Given the description of an element on the screen output the (x, y) to click on. 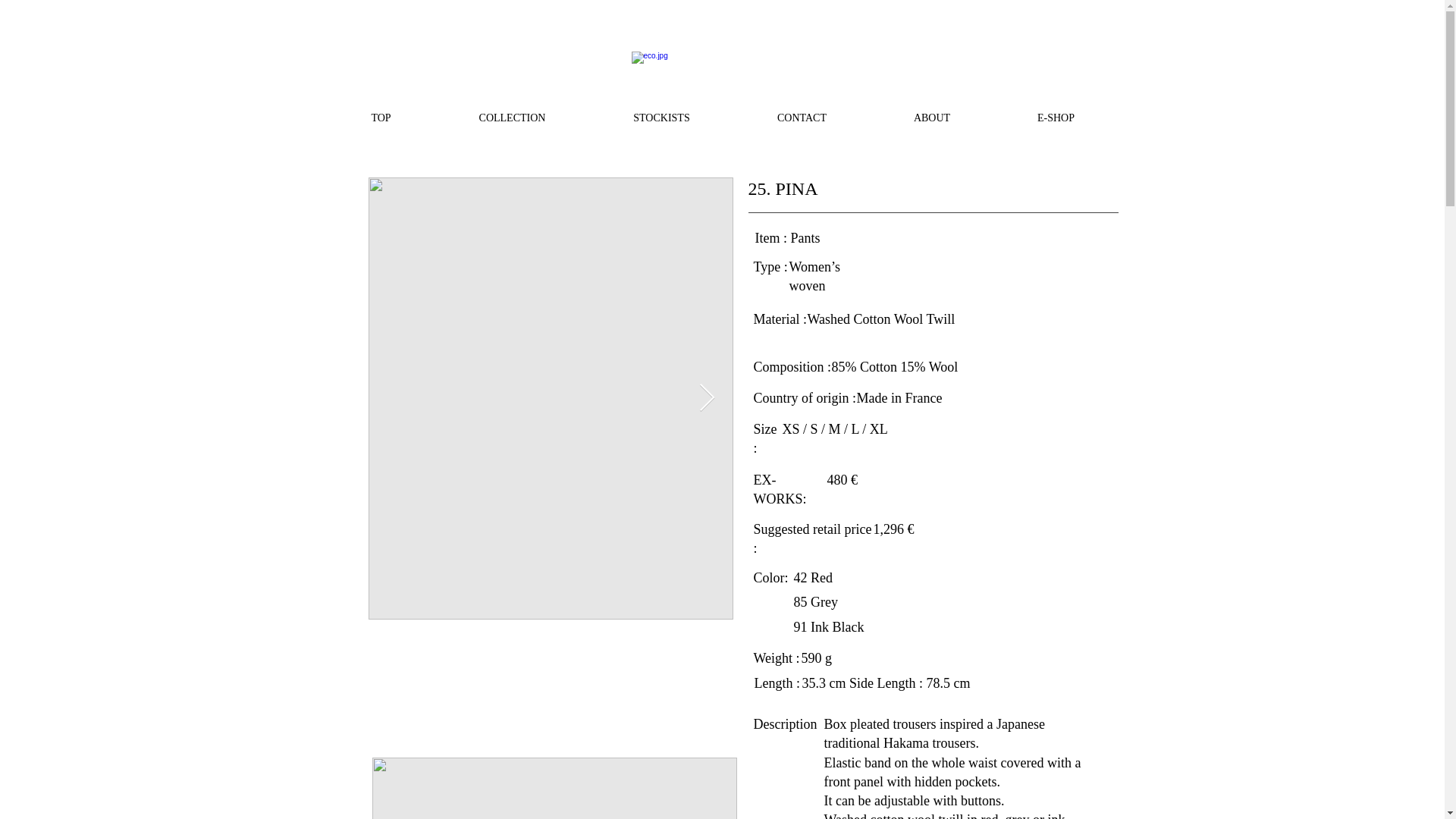
STOCKISTS (661, 117)
E-SHOP (1055, 117)
TOP (381, 117)
ABOUT (932, 117)
COLLECTION (512, 117)
CONTACT (801, 117)
